Given the description of an element on the screen output the (x, y) to click on. 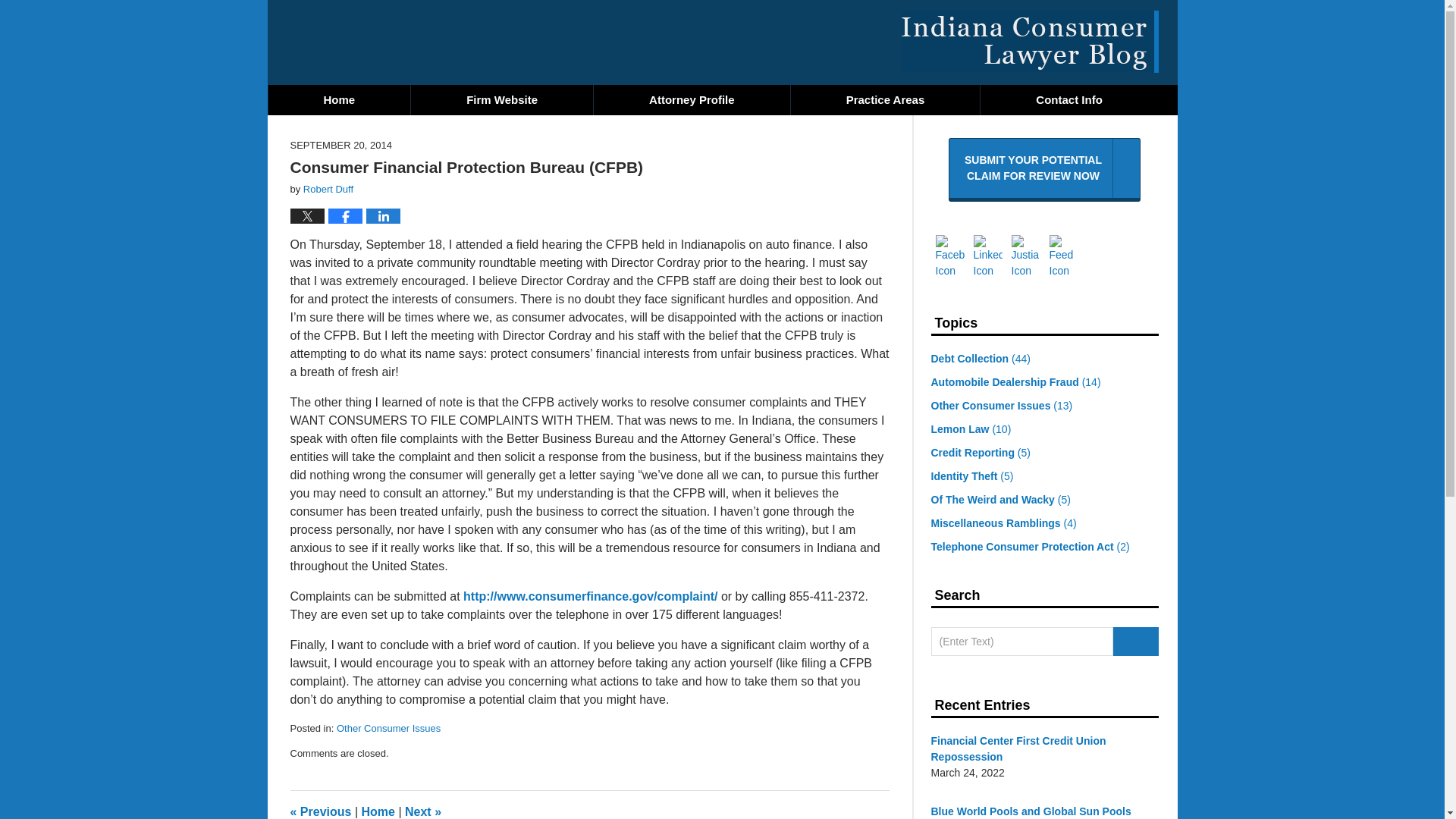
Home (377, 811)
Firm Website (1044, 169)
Home (501, 100)
Practice Areas (338, 100)
Contact Info (884, 100)
Attorney Profile (1068, 100)
Indiana Consumer Lawyer Blog (692, 100)
Other Consumer Issues (1029, 41)
